Given the description of an element on the screen output the (x, y) to click on. 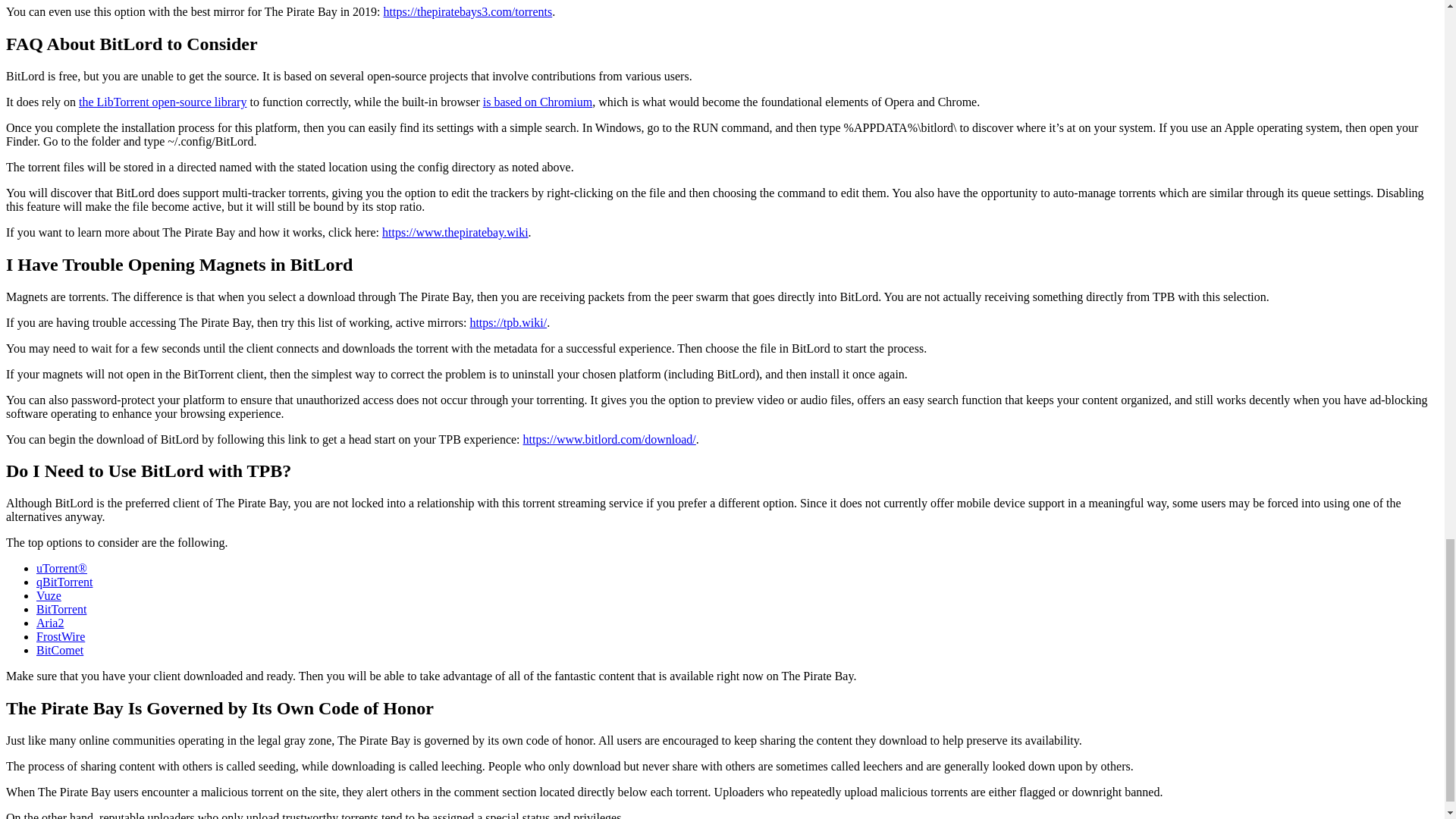
Vuze (48, 594)
Aria2 (50, 622)
qBitTorrent (64, 581)
BitTorrent (60, 608)
is based on Chromium (537, 101)
the LibTorrent open-source library (162, 101)
